Given the description of an element on the screen output the (x, y) to click on. 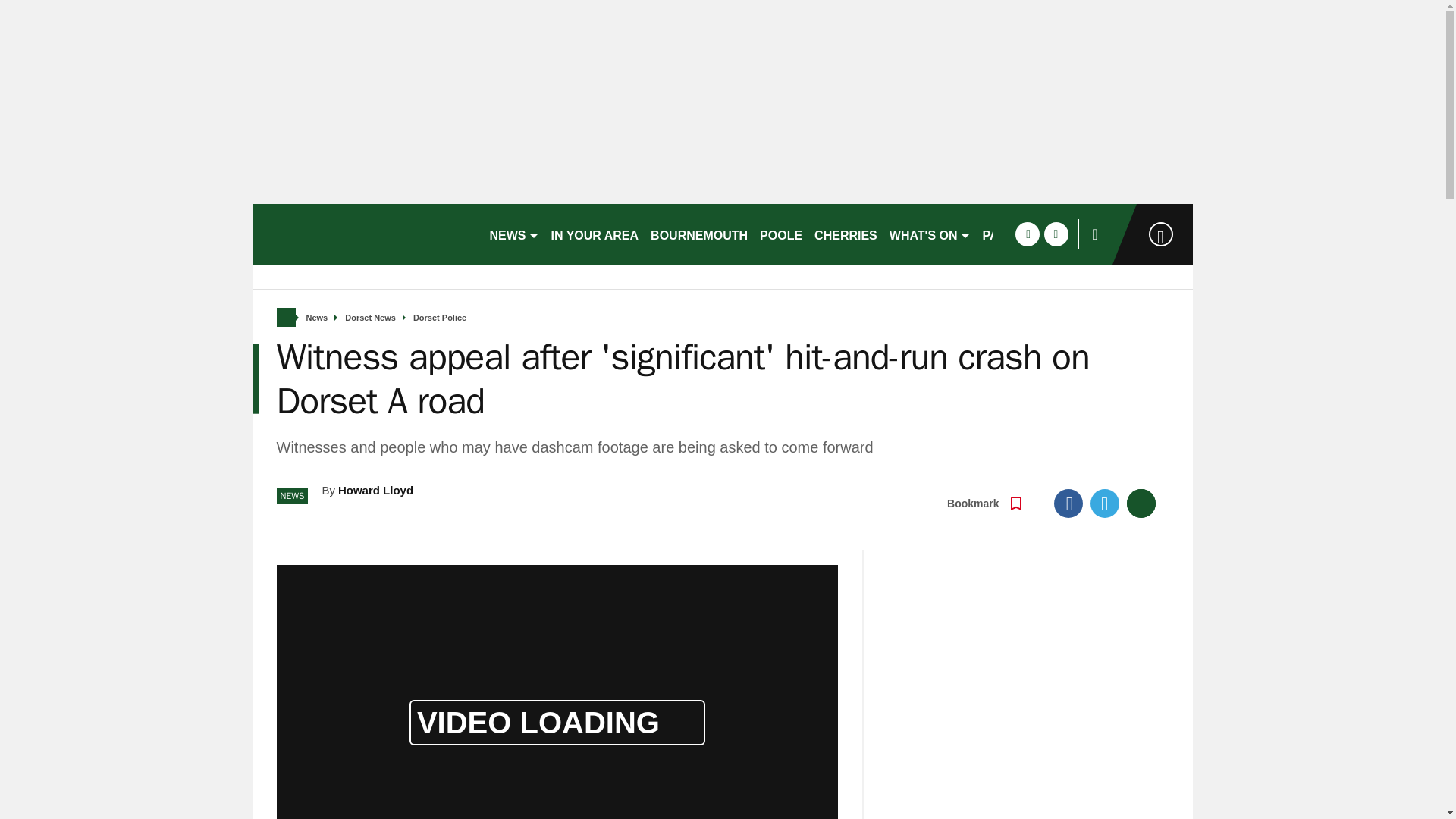
BOURNEMOUTH (699, 233)
facebook (1026, 233)
CHERRIES (845, 233)
WHAT'S ON (929, 233)
Facebook (1068, 502)
POOLE (781, 233)
NEWS (513, 233)
dorsetlive (363, 233)
Twitter (1104, 502)
IN YOUR AREA (594, 233)
